Given the description of an element on the screen output the (x, y) to click on. 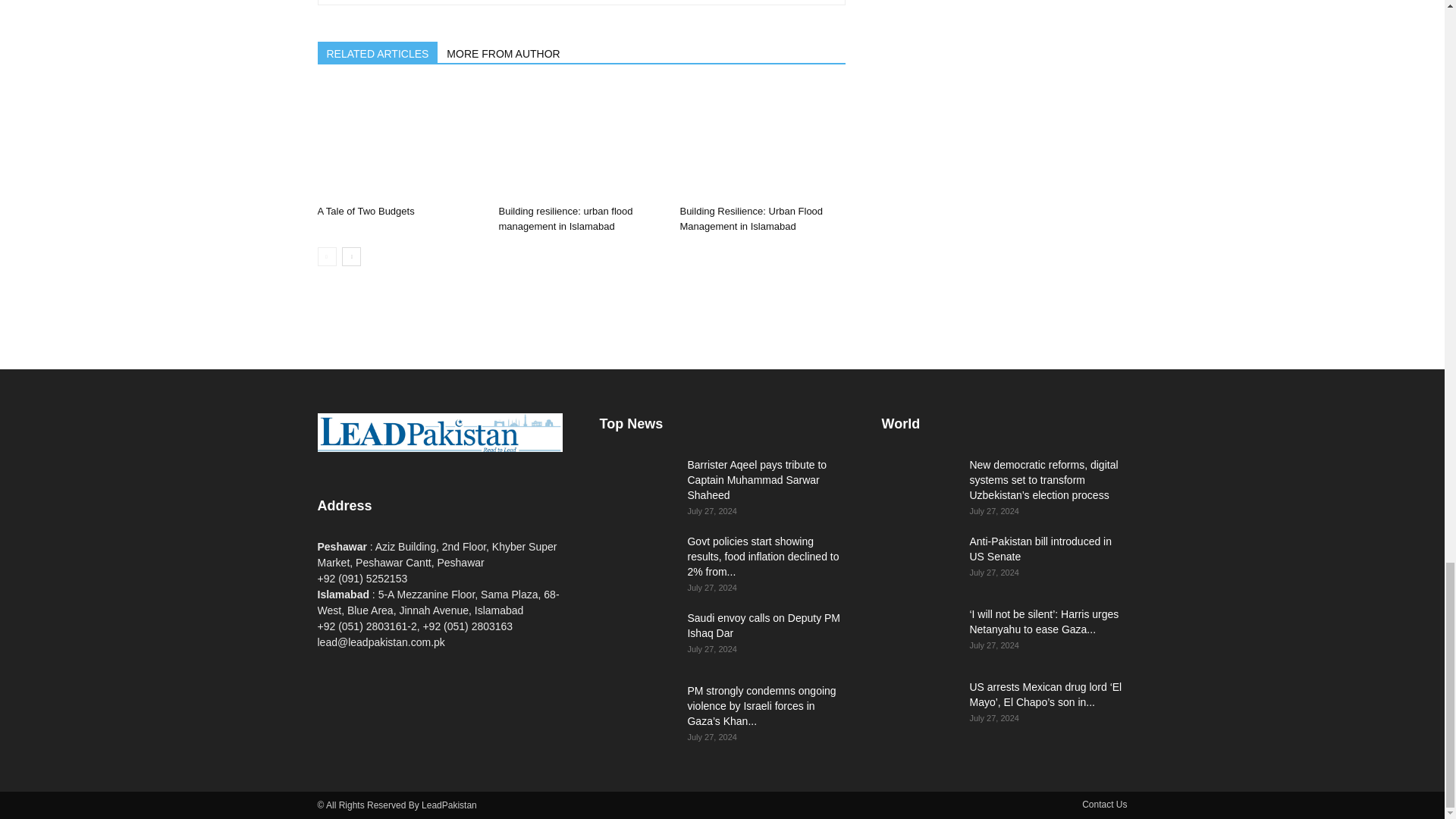
A Tale of Two Budgets (365, 211)
Building resilience: urban flood management in Islamabad (580, 142)
Building resilience: urban flood management in Islamabad (564, 218)
A Tale of Two Budgets (399, 142)
